Given the description of an element on the screen output the (x, y) to click on. 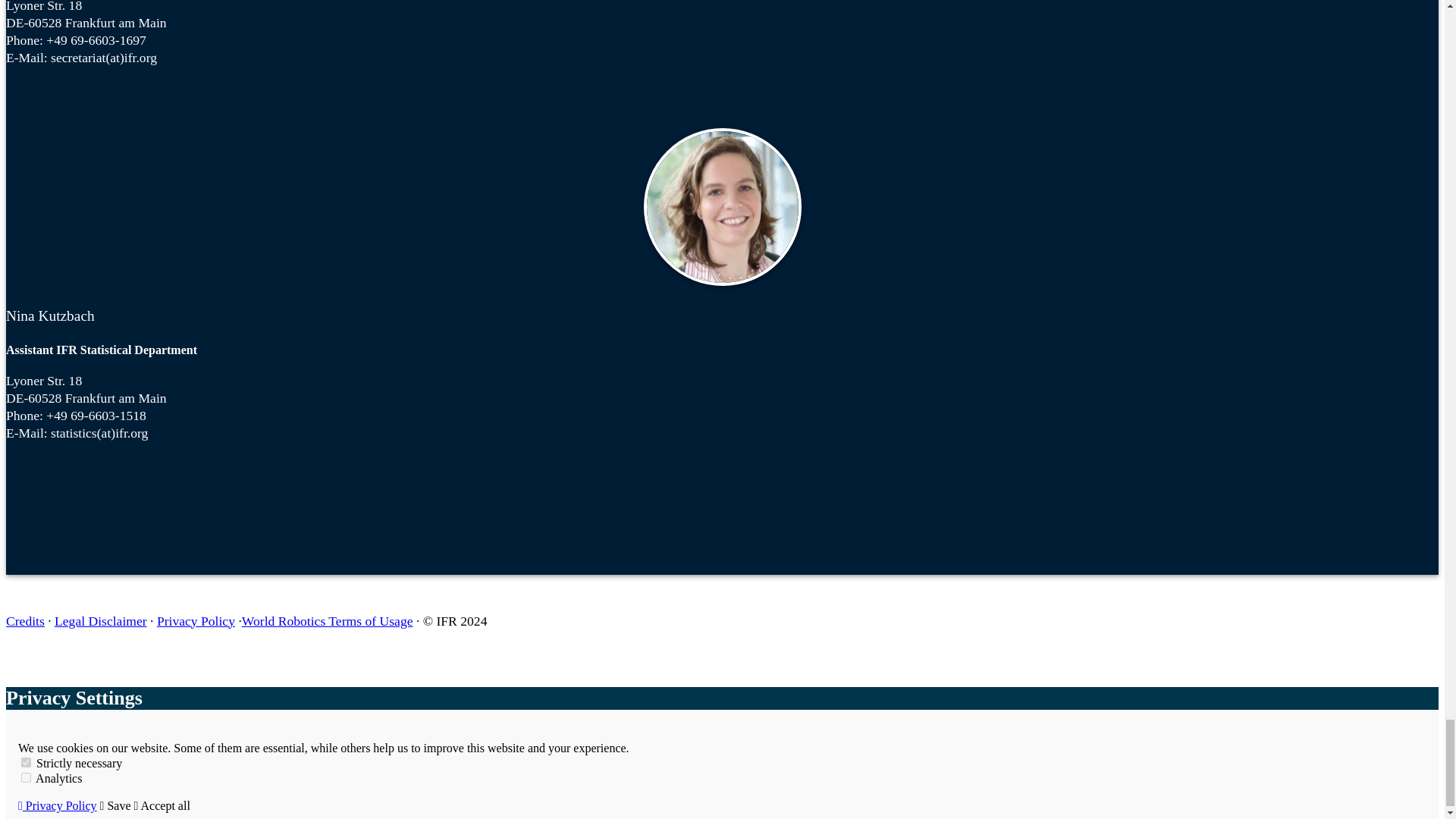
y (25, 762)
y (25, 777)
Privacy Policy (57, 805)
